Given the description of an element on the screen output the (x, y) to click on. 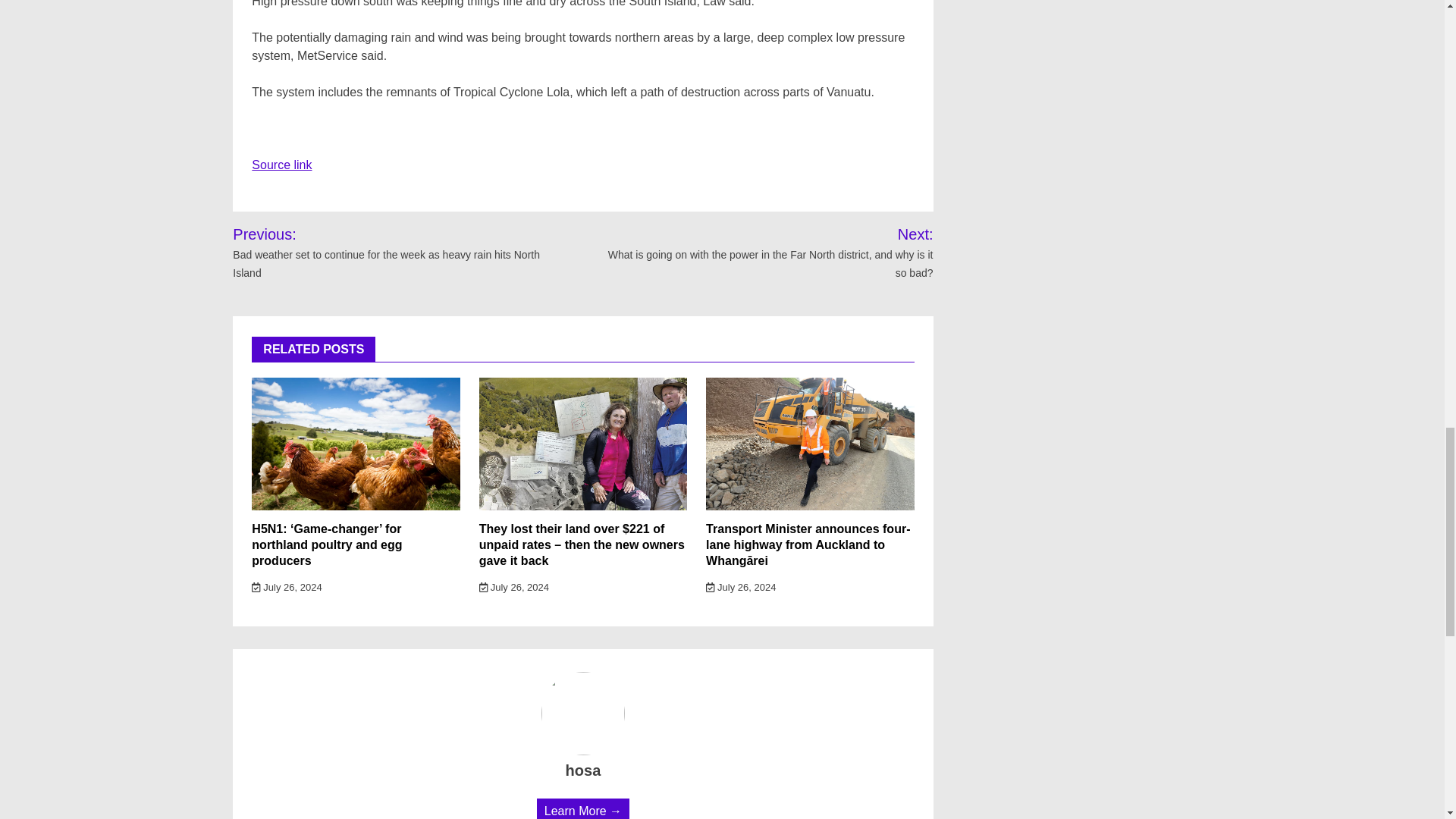
Source link (281, 164)
July 26, 2024 (286, 586)
July 26, 2024 (513, 586)
July 26, 2024 (741, 586)
